Given the description of an element on the screen output the (x, y) to click on. 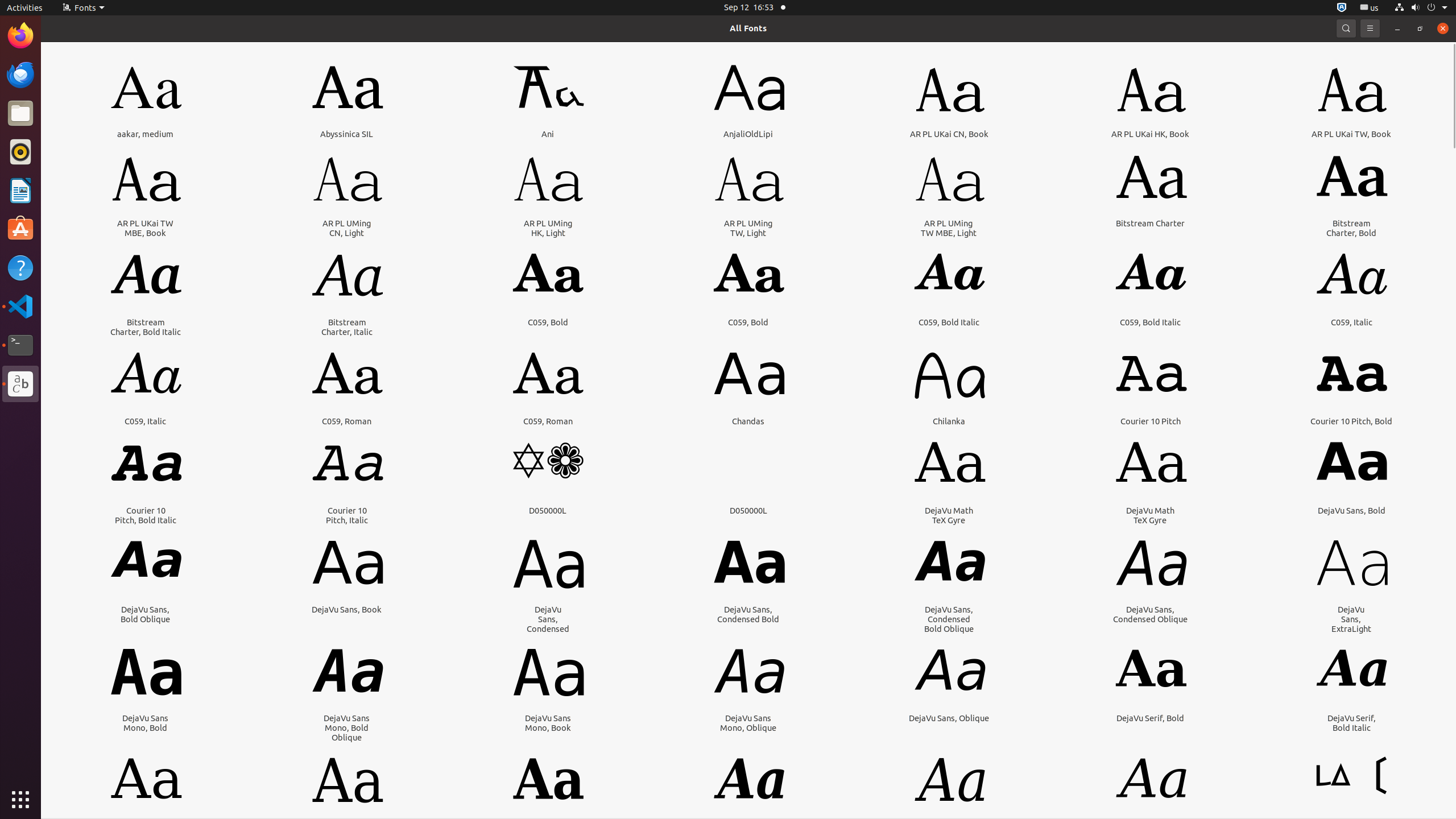
Bitstream Charter, Italic Element type: label (346, 326)
DejaVu Math TeX Gyre Element type: label (949, 514)
DejaVu Sans, Condensed Bold Element type: label (748, 613)
DejaVu Sans, Condensed Bold Oblique Element type: label (948, 618)
